Given the description of an element on the screen output the (x, y) to click on. 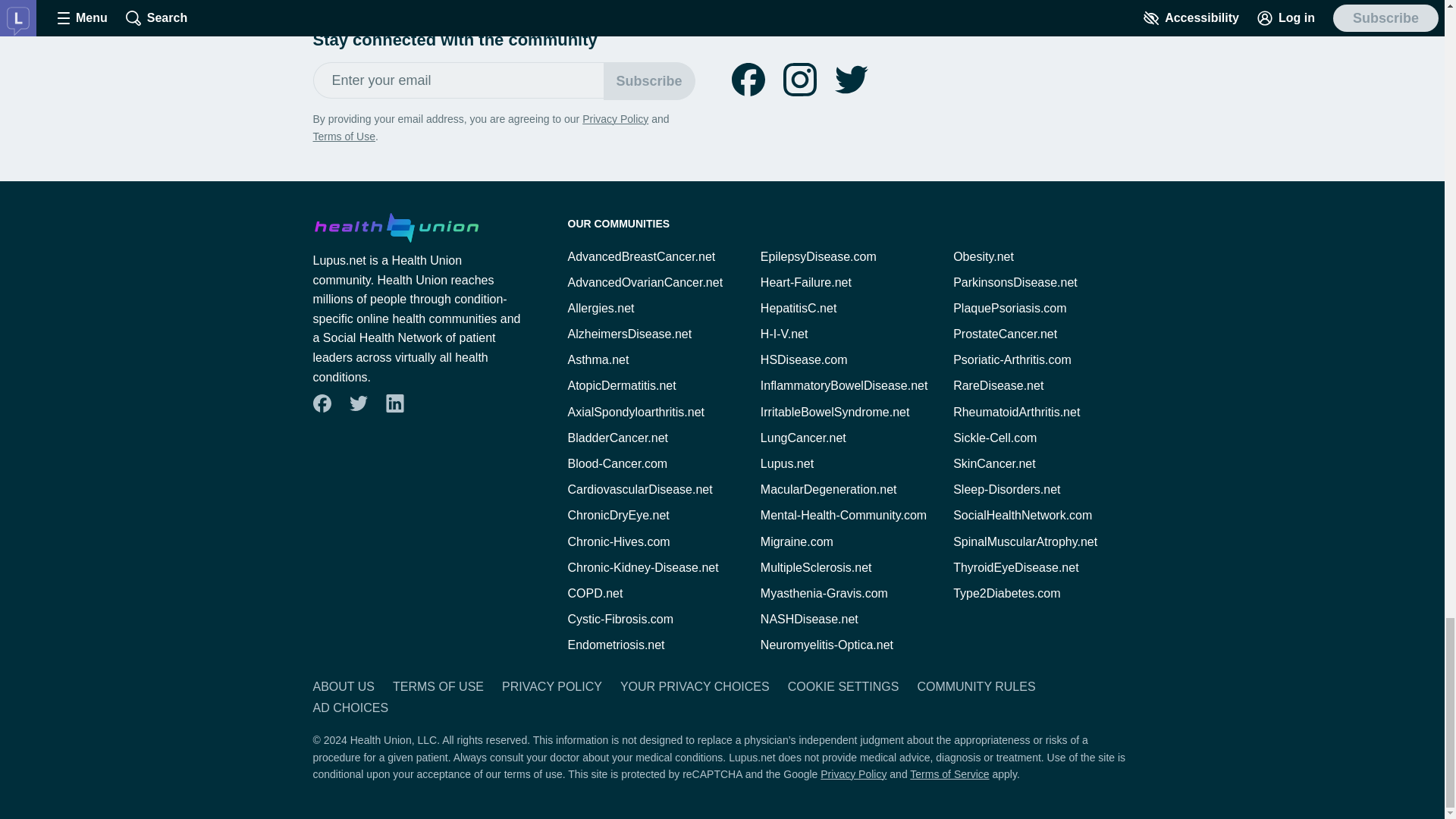
Follow us on twitter (850, 79)
Follow us on facebook (747, 79)
Follow us on instagram (799, 79)
